Given the description of an element on the screen output the (x, y) to click on. 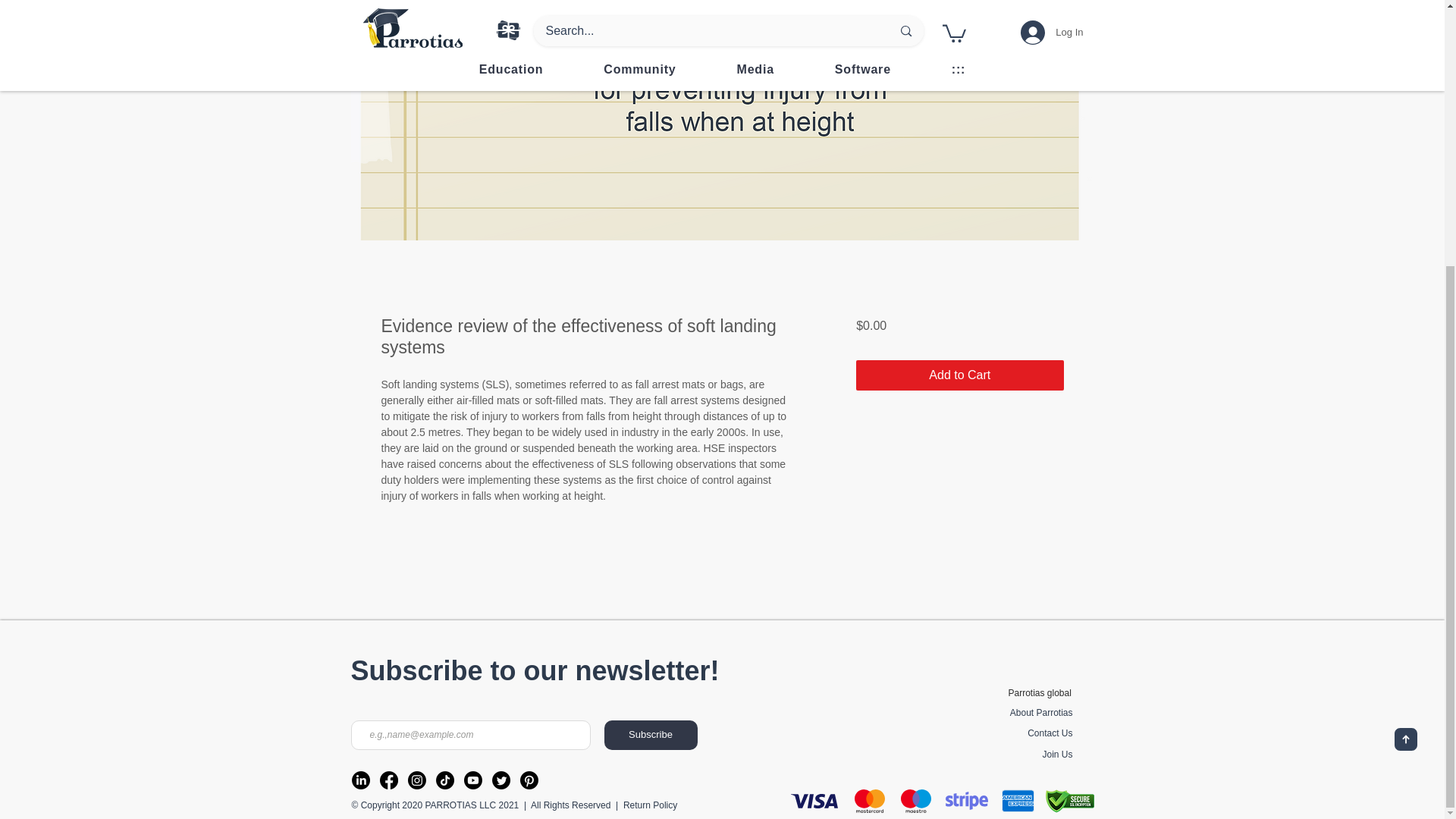
About Parrotias (1041, 713)
Contact Us (1049, 733)
Parrotias global (1040, 692)
Add to Cart (959, 375)
Subscribe (650, 735)
Join Us (1056, 755)
